Given the description of an element on the screen output the (x, y) to click on. 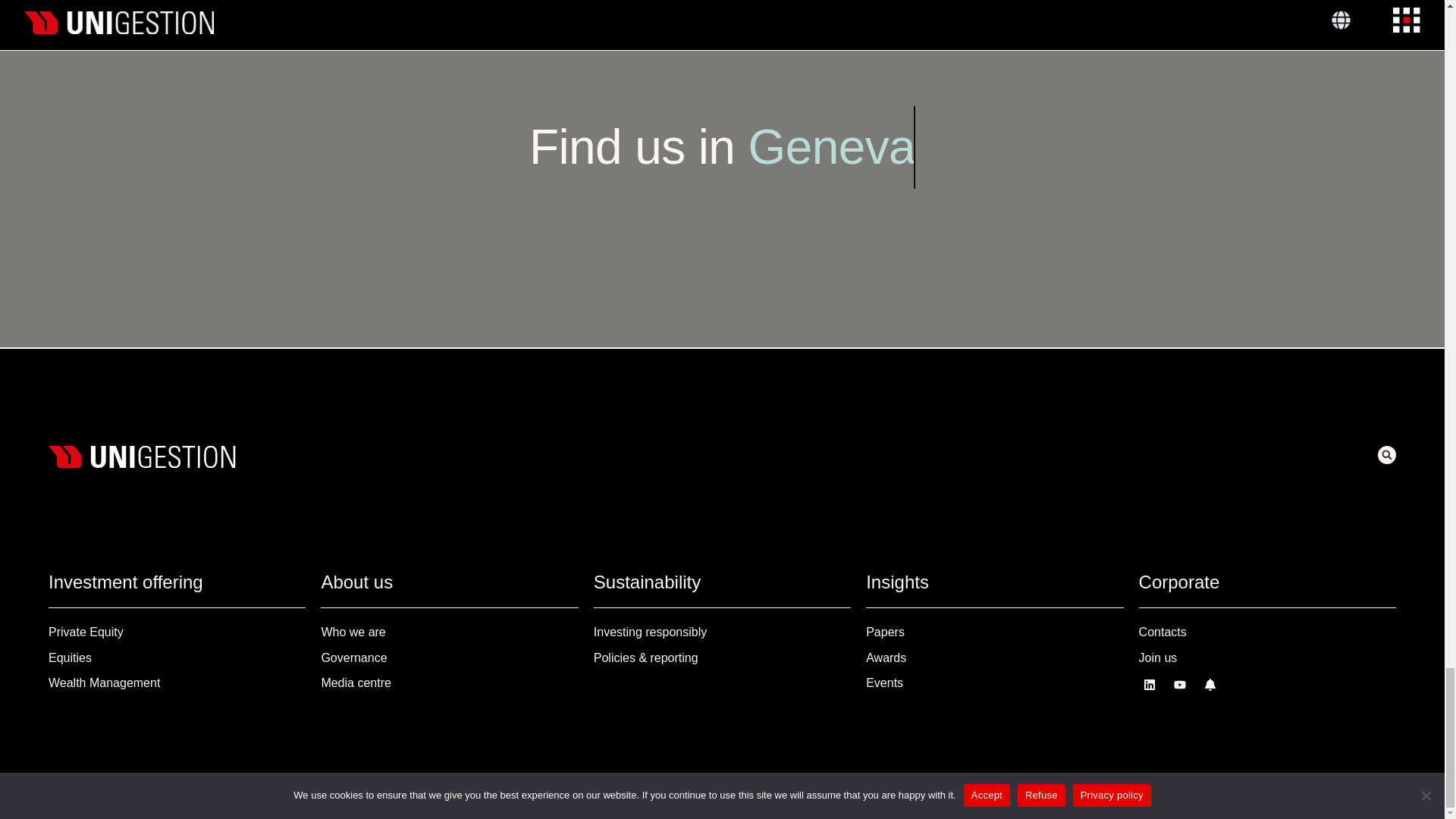
Awards (885, 658)
Equities (104, 658)
Investing responsibly (650, 632)
Media centre (355, 682)
Wealth Management (104, 682)
Governance (355, 658)
Private Equity (104, 632)
Papers (885, 632)
Who we are (355, 632)
